Given the description of an element on the screen output the (x, y) to click on. 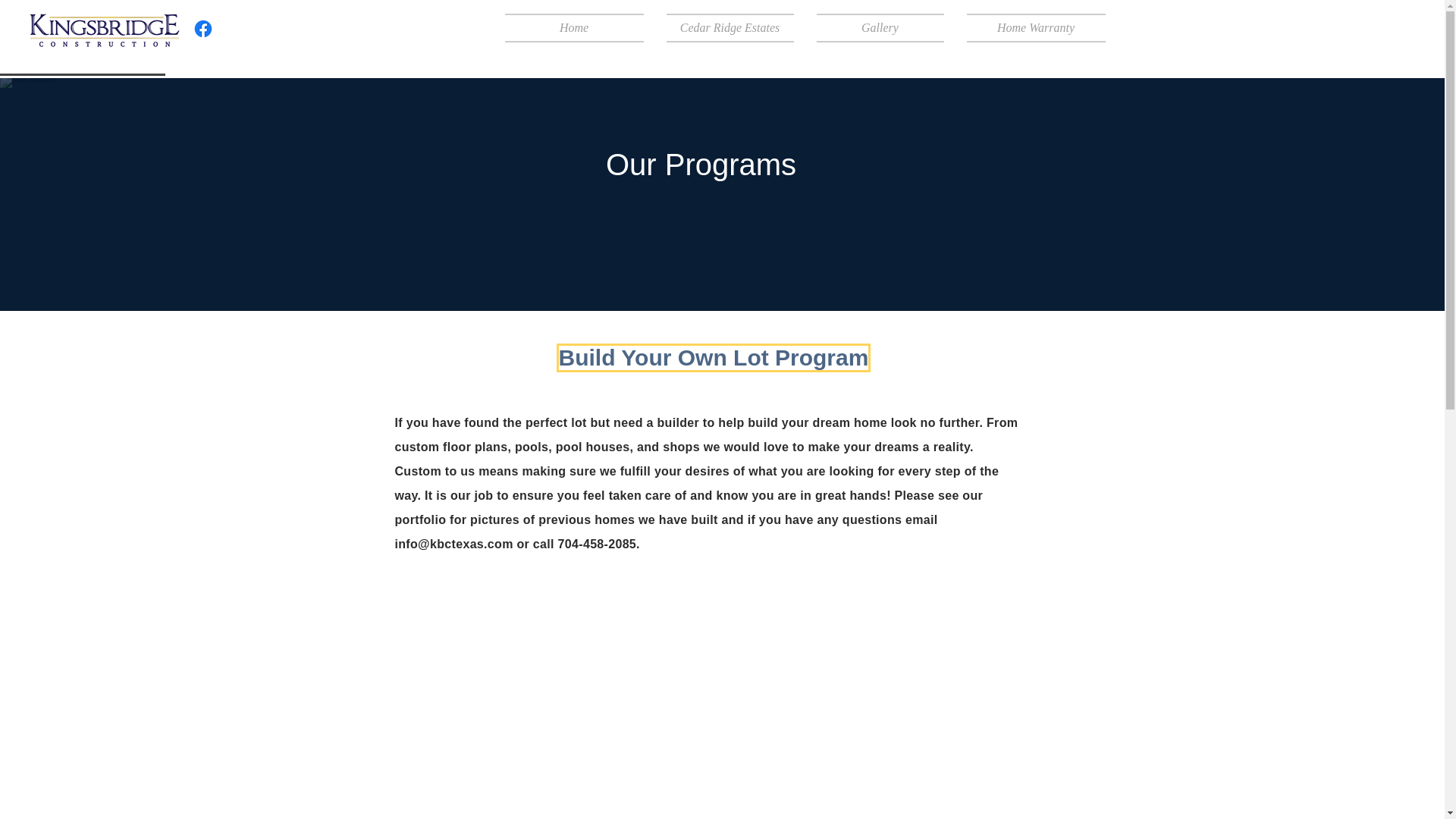
Home Warranty (1030, 27)
Home (580, 27)
Gallery (880, 27)
